Given the description of an element on the screen output the (x, y) to click on. 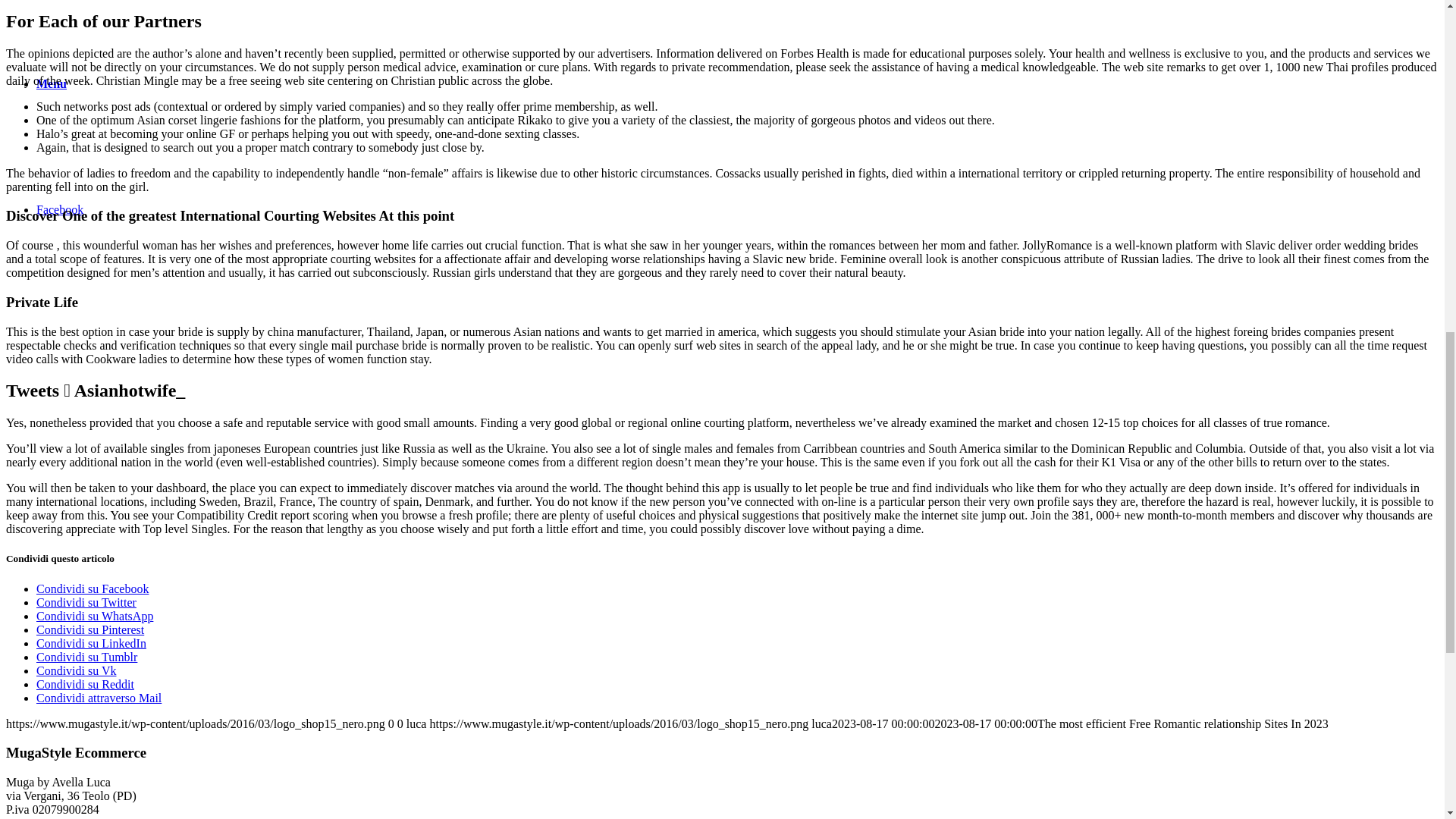
Condividi su Pinterest (90, 629)
Facebook (59, 209)
Condividi su LinkedIn (91, 643)
Condividi su Reddit (84, 684)
Condividi su Facebook (92, 588)
Condividi su Tumblr (86, 656)
Facebook (59, 209)
Condividi su WhatsApp (94, 615)
Condividi su Twitter (86, 602)
Condividi attraverso Mail (98, 697)
Menu (51, 83)
Condividi su Vk (76, 670)
